Given the description of an element on the screen output the (x, y) to click on. 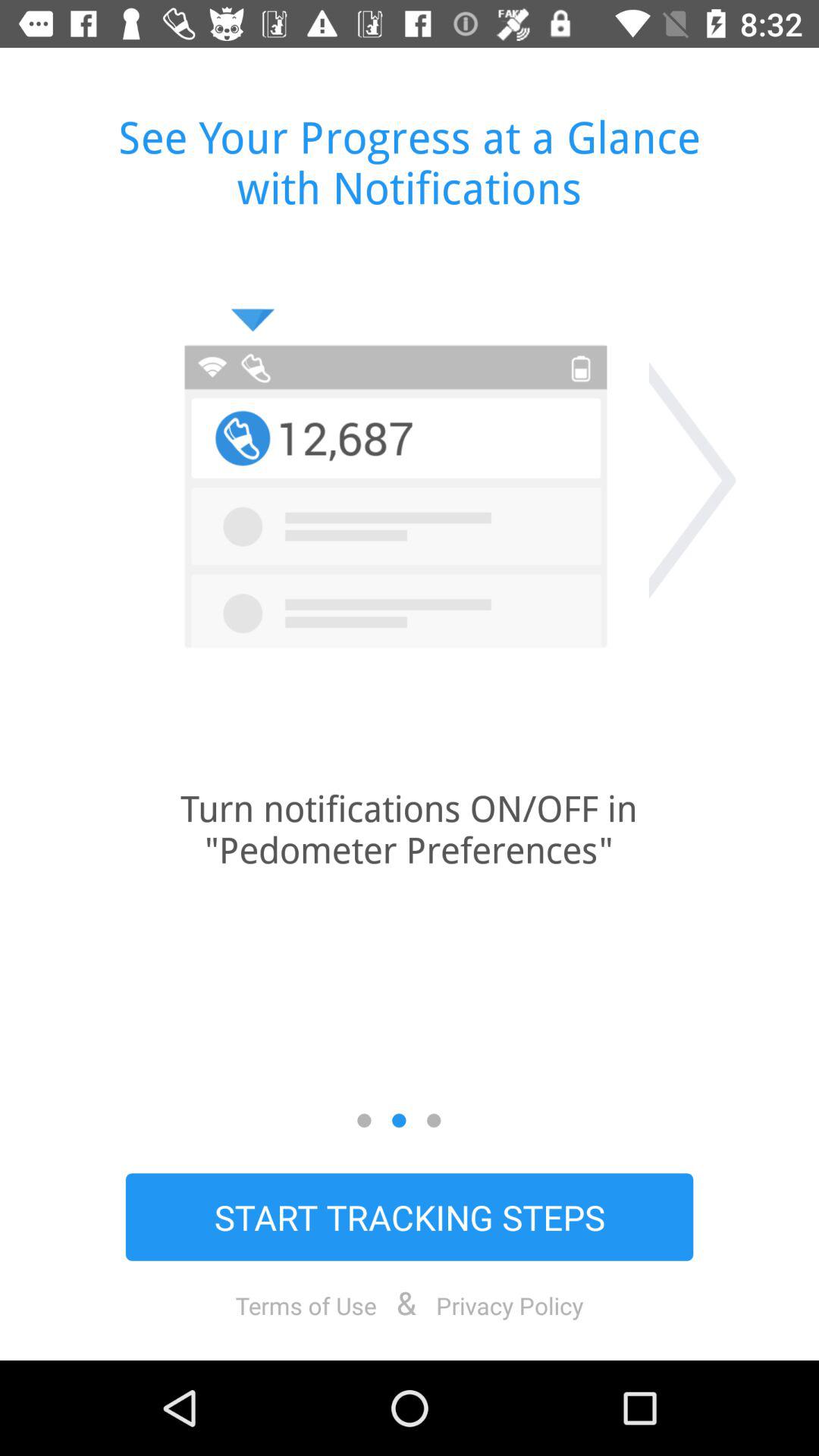
swipe until start tracking steps (409, 1217)
